Given the description of an element on the screen output the (x, y) to click on. 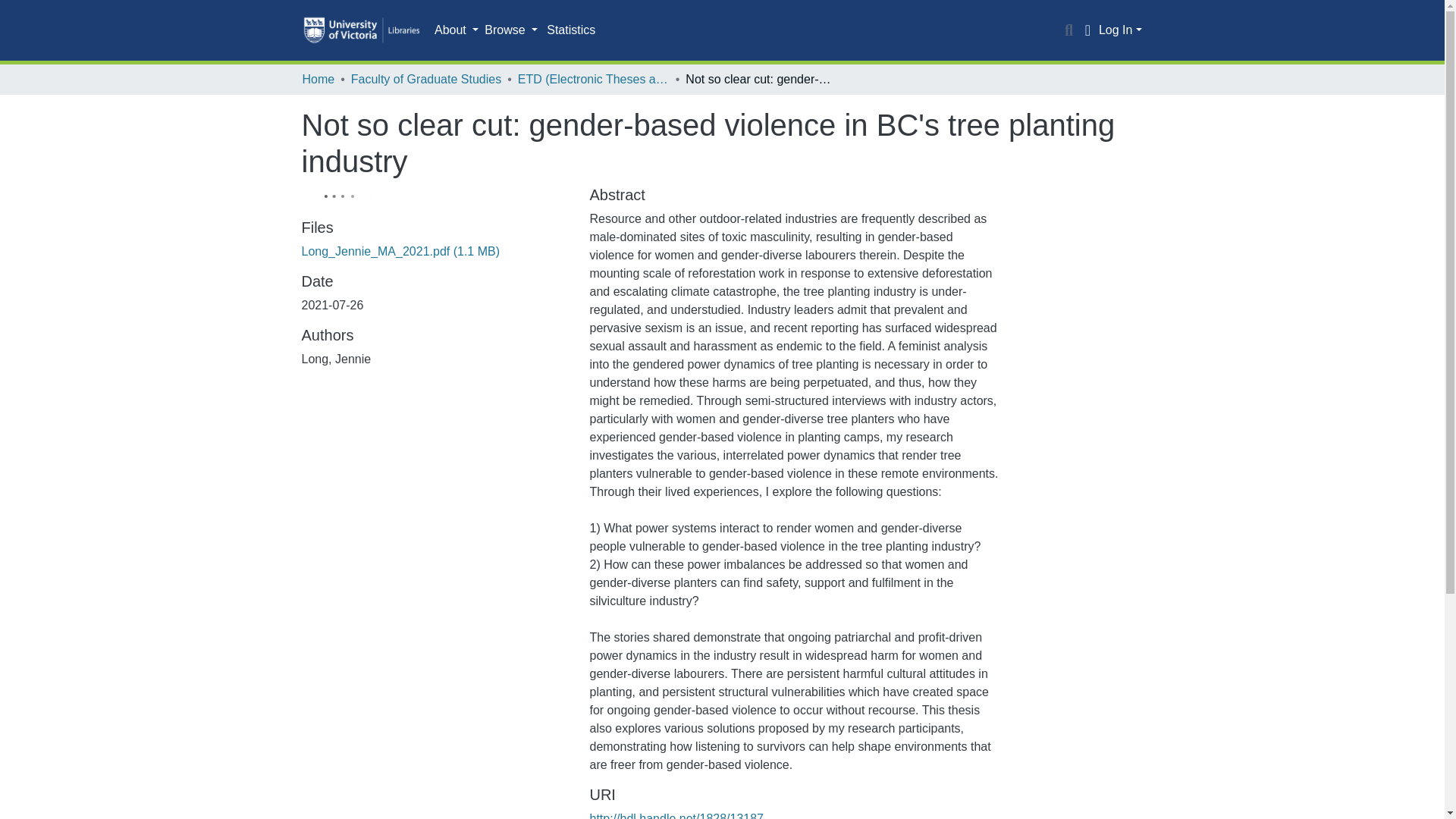
Faculty of Graduate Studies (425, 79)
Home (317, 79)
Log In (1119, 29)
Language switch (1087, 30)
About (455, 30)
Statistics (570, 30)
Statistics (570, 30)
Search (1068, 30)
Browse (510, 30)
